Given the description of an element on the screen output the (x, y) to click on. 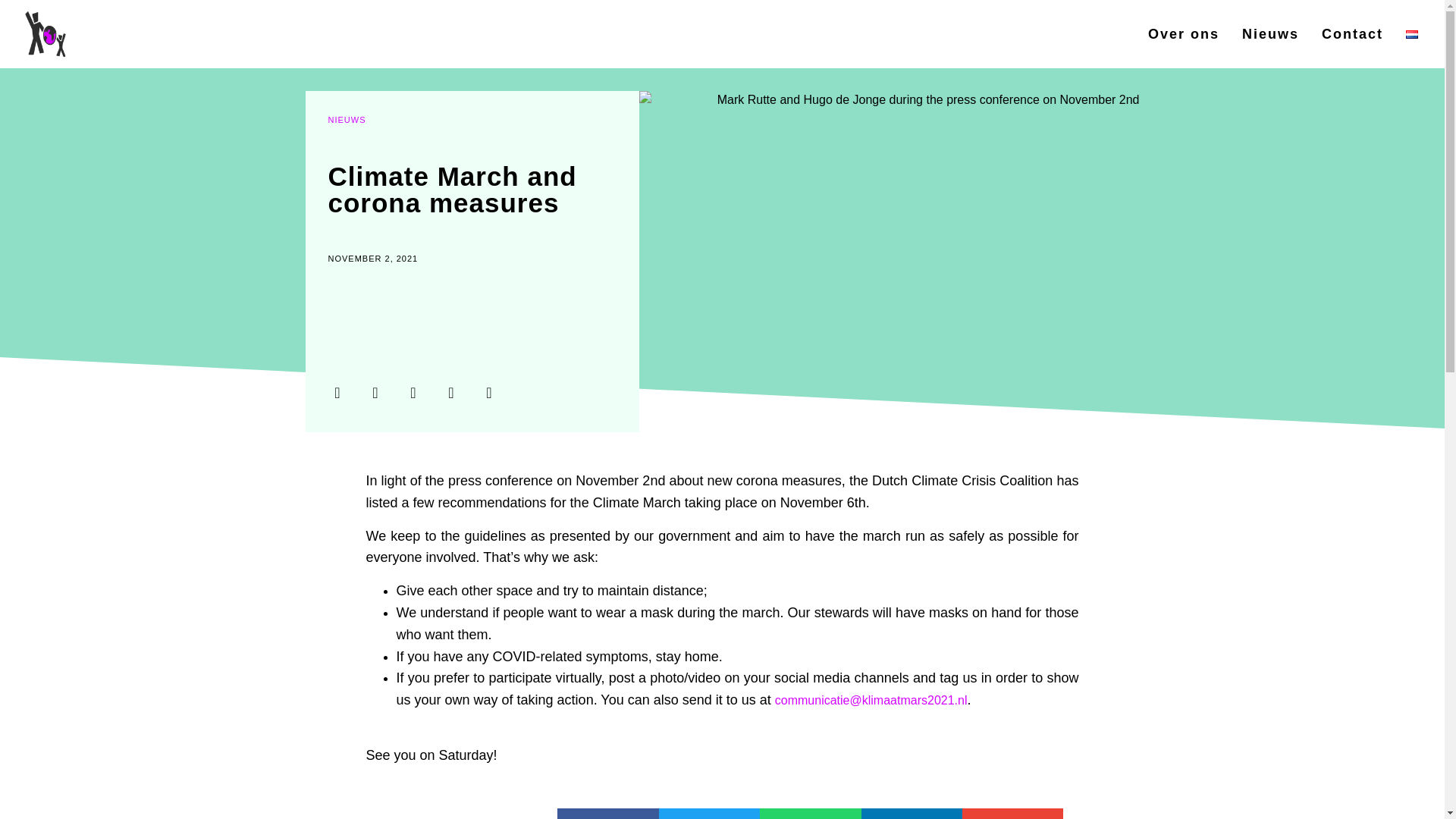
Contact (1352, 33)
Nieuws (1270, 33)
Over ons (1183, 33)
NIEUWS (346, 119)
